Given the description of an element on the screen output the (x, y) to click on. 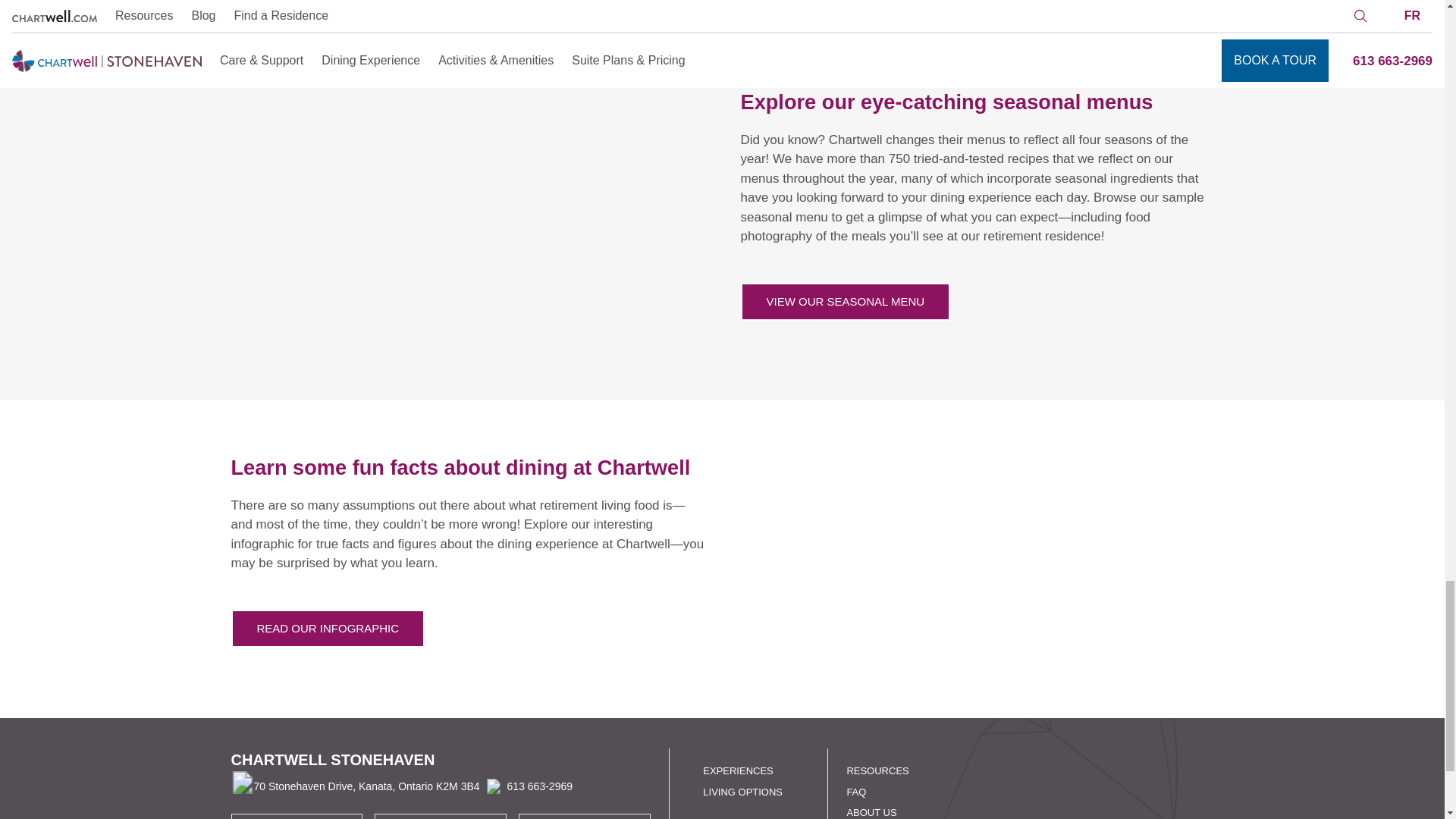
70 Stonehaven Drive, Kanata, Ontario K2M 3B4 (354, 786)
VIEW OUR SEASONAL MENU (844, 301)
FAQ (855, 790)
613 663-2969 (327, 628)
RESOURCES (526, 785)
EXPERIENCES (876, 770)
ABOUT US (738, 770)
READ OUR INFOGRAPHIC (844, 301)
